Given the description of an element on the screen output the (x, y) to click on. 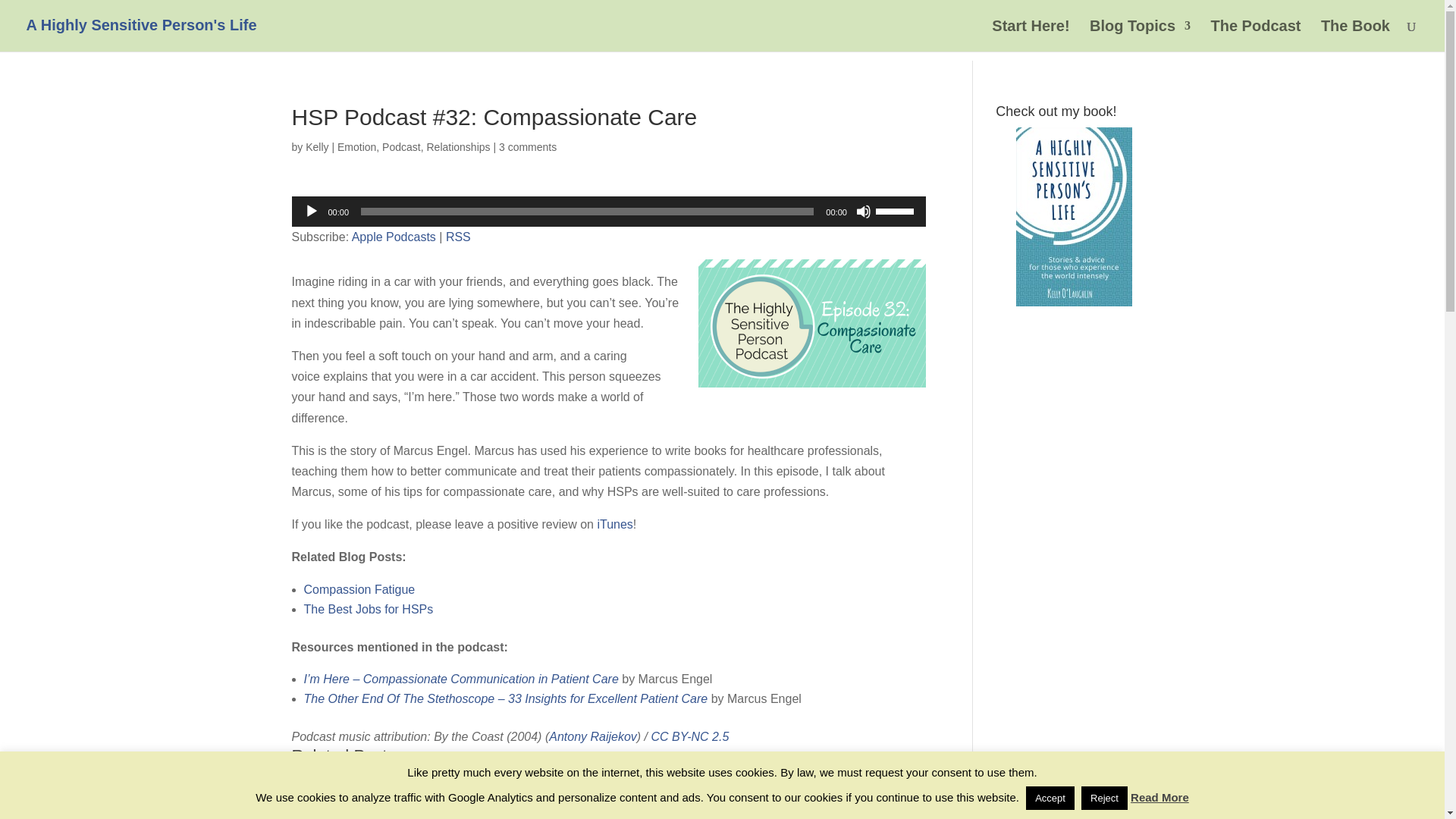
Podcast (400, 146)
Blog Topics (1140, 35)
3 comments (527, 146)
Subscribe on Apple Podcasts (393, 236)
Posts by Kelly (317, 146)
Emotion (356, 146)
A Highly Sensitive Person's Life (141, 24)
Mute (863, 211)
Play (310, 211)
Relationships (457, 146)
The Podcast (1254, 35)
Kelly (317, 146)
The Book (1355, 35)
Subscribe via RSS (457, 236)
Start Here! (1029, 35)
